Given the description of an element on the screen output the (x, y) to click on. 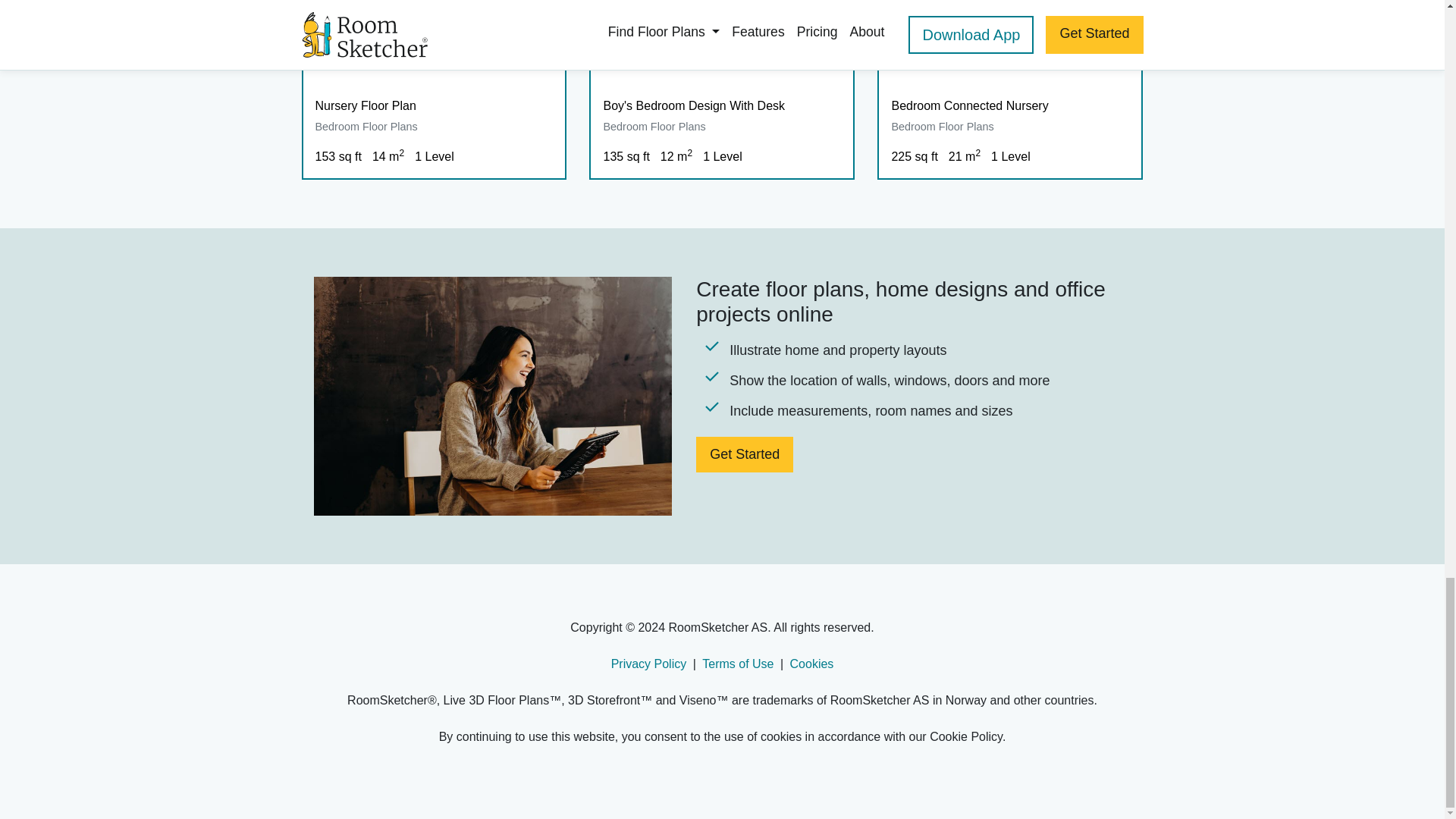
Nursery Floor Plan (434, 105)
Cookies (812, 663)
Terms of Use (737, 663)
Privacy Policy (649, 663)
Boy's Bedroom Design With Desk (721, 105)
Get Started (744, 454)
